Given the description of an element on the screen output the (x, y) to click on. 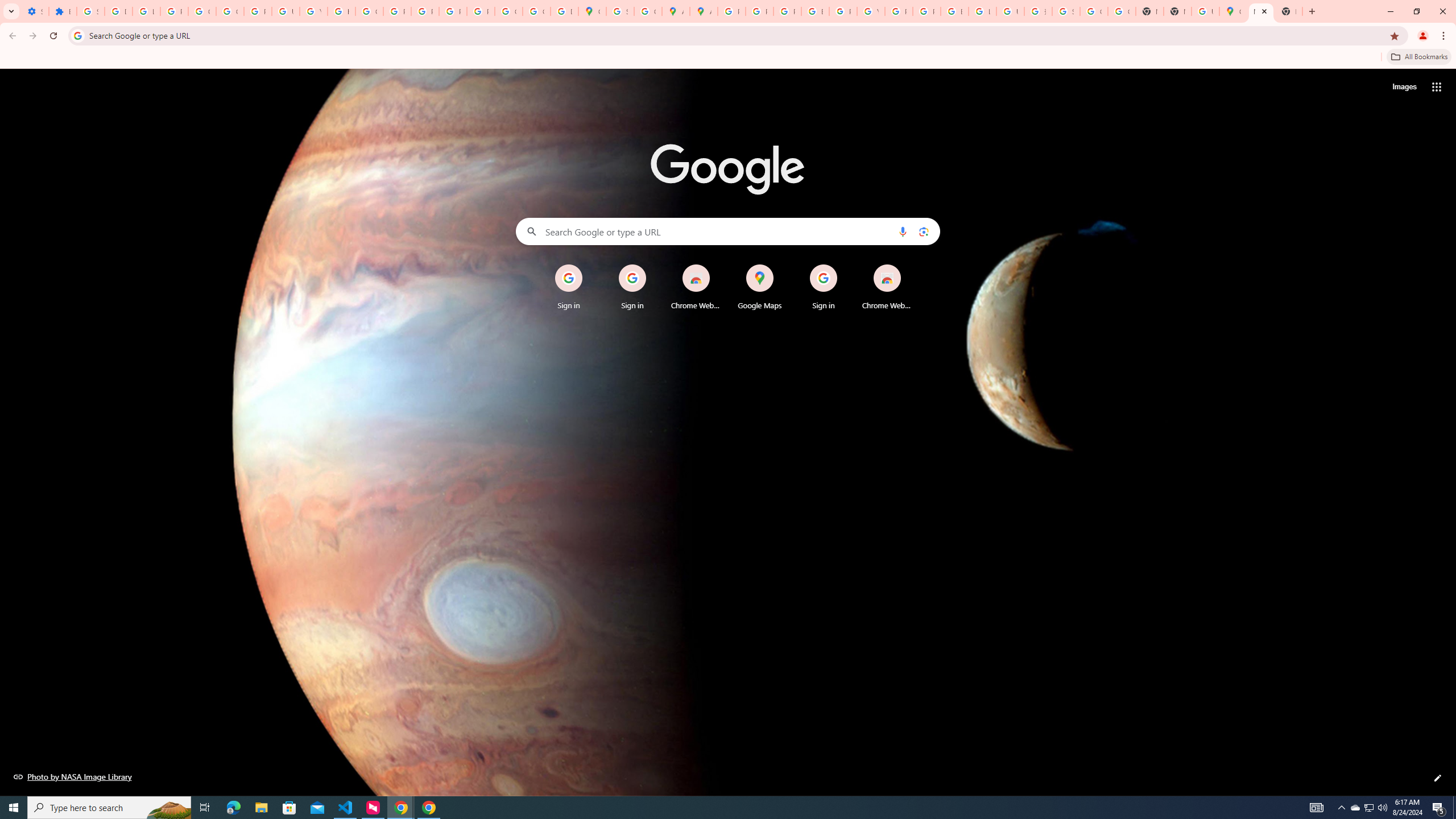
YouTube (870, 11)
Use Google Maps in Space - Google Maps Help (1205, 11)
YouTube (313, 11)
Create your Google Account (647, 11)
Customize this page (1437, 778)
